Given the description of an element on the screen output the (x, y) to click on. 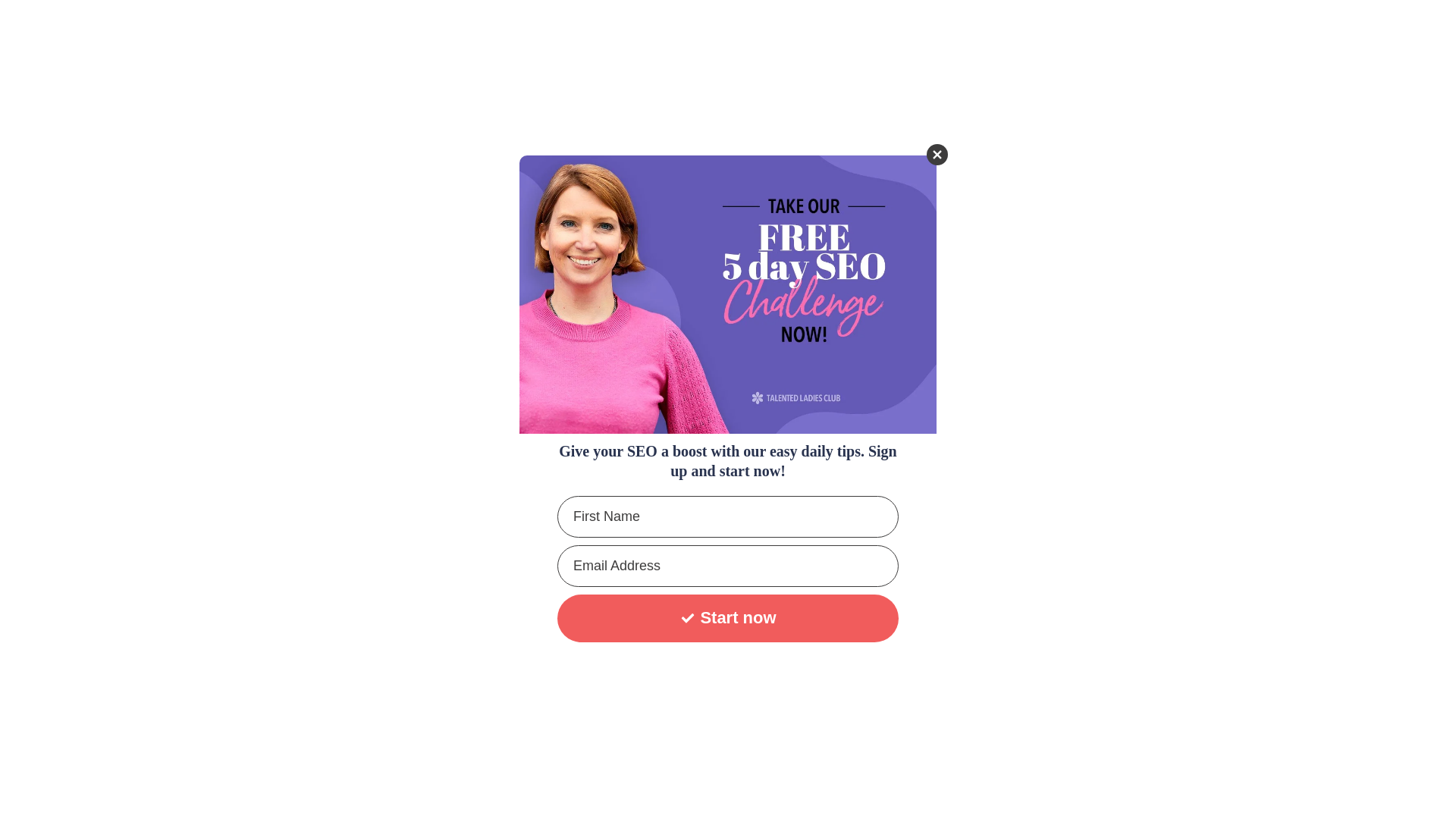
Podcast (1086, 28)
Articles (879, 28)
Start now (727, 618)
Contact (1150, 28)
Close (936, 154)
Mentoring (1015, 28)
Our story (810, 28)
Courses (943, 28)
